Given the description of an element on the screen output the (x, y) to click on. 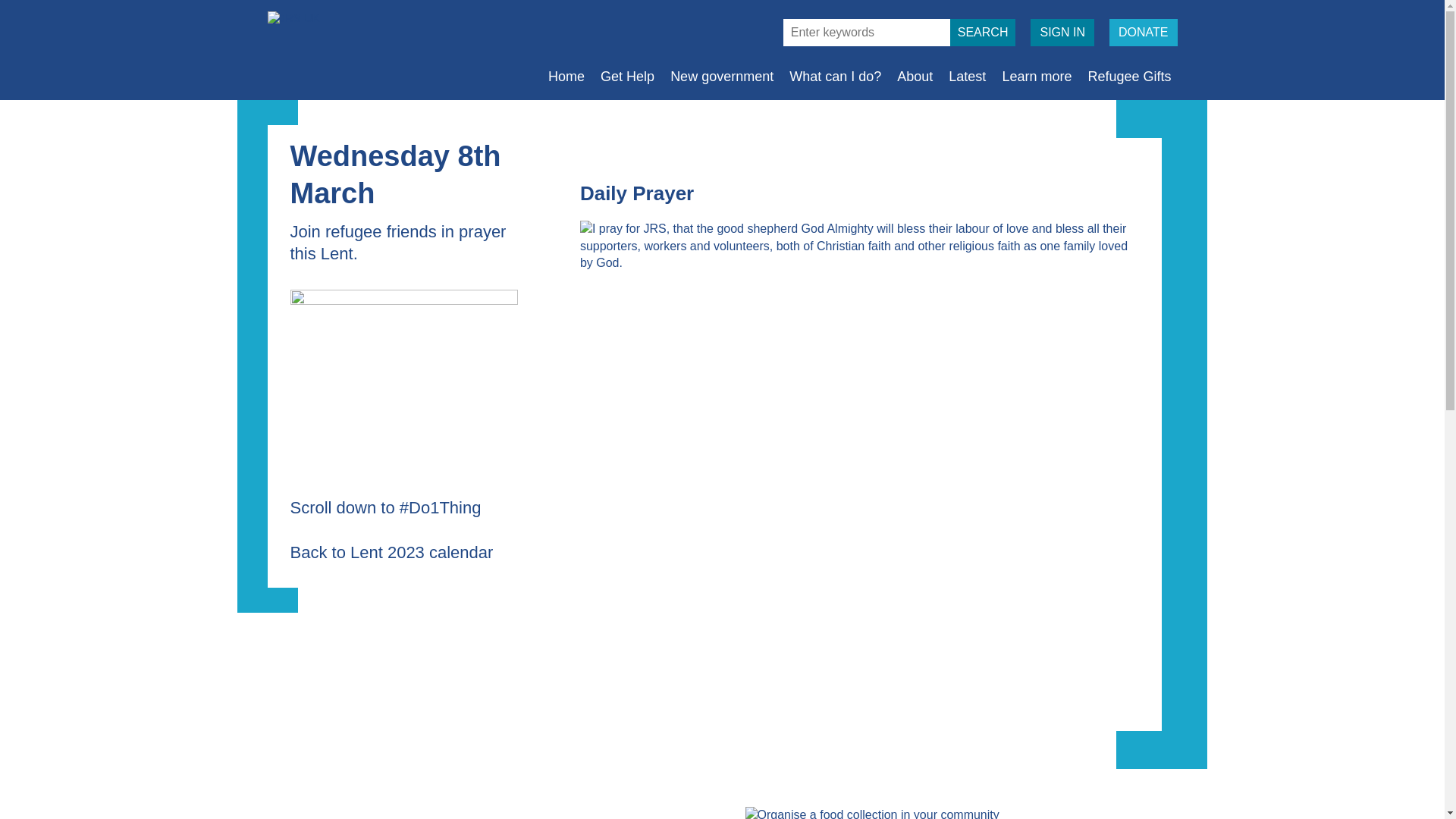
About (915, 76)
Refugee Gifts (1128, 76)
DONATE (1142, 31)
Learn more (1036, 76)
Get Help (627, 76)
Search (983, 31)
Home (566, 76)
Search (983, 31)
Search (983, 31)
What can I do? (834, 76)
